Given the description of an element on the screen output the (x, y) to click on. 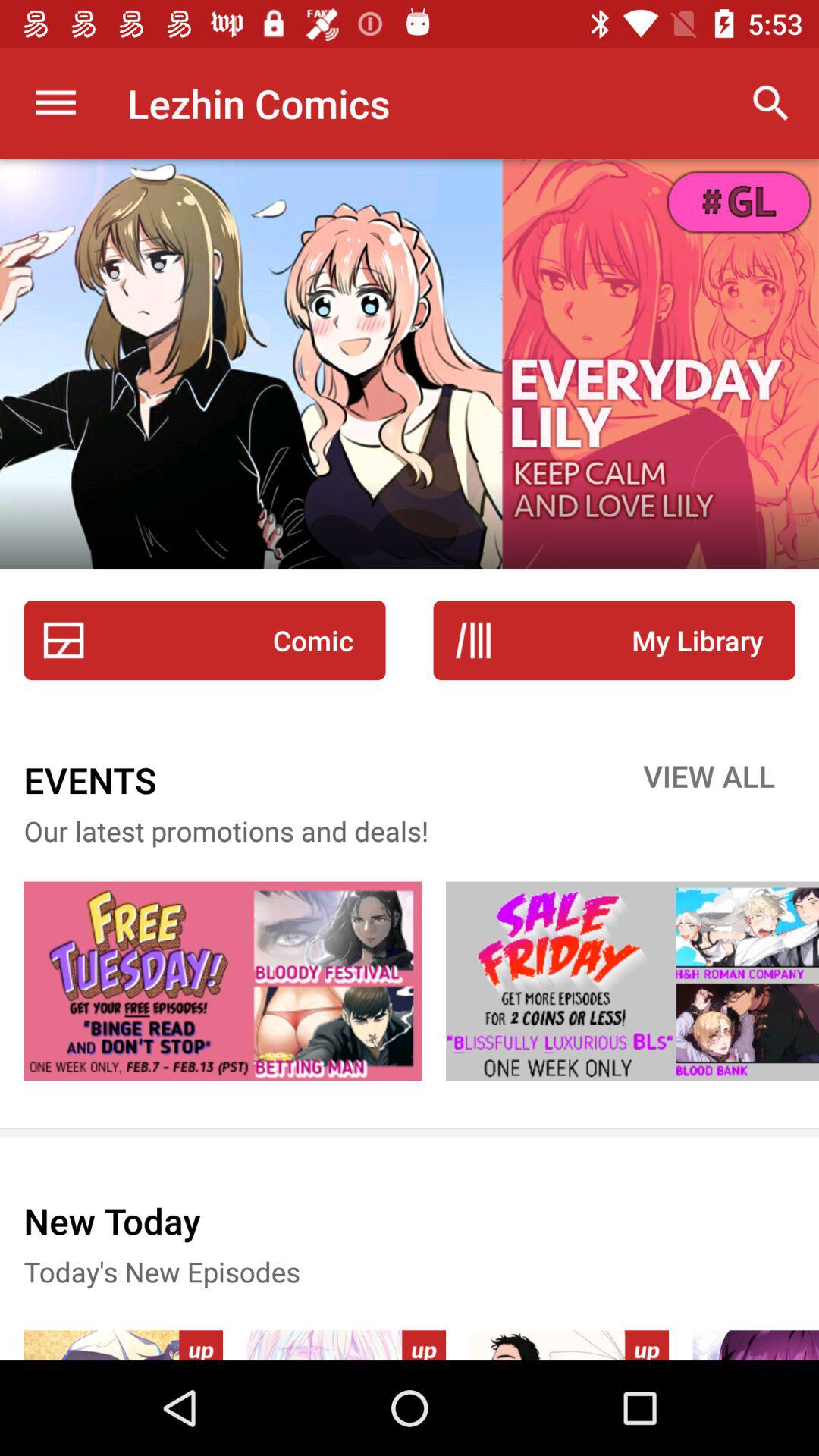
turn off the view all (709, 779)
